Given the description of an element on the screen output the (x, y) to click on. 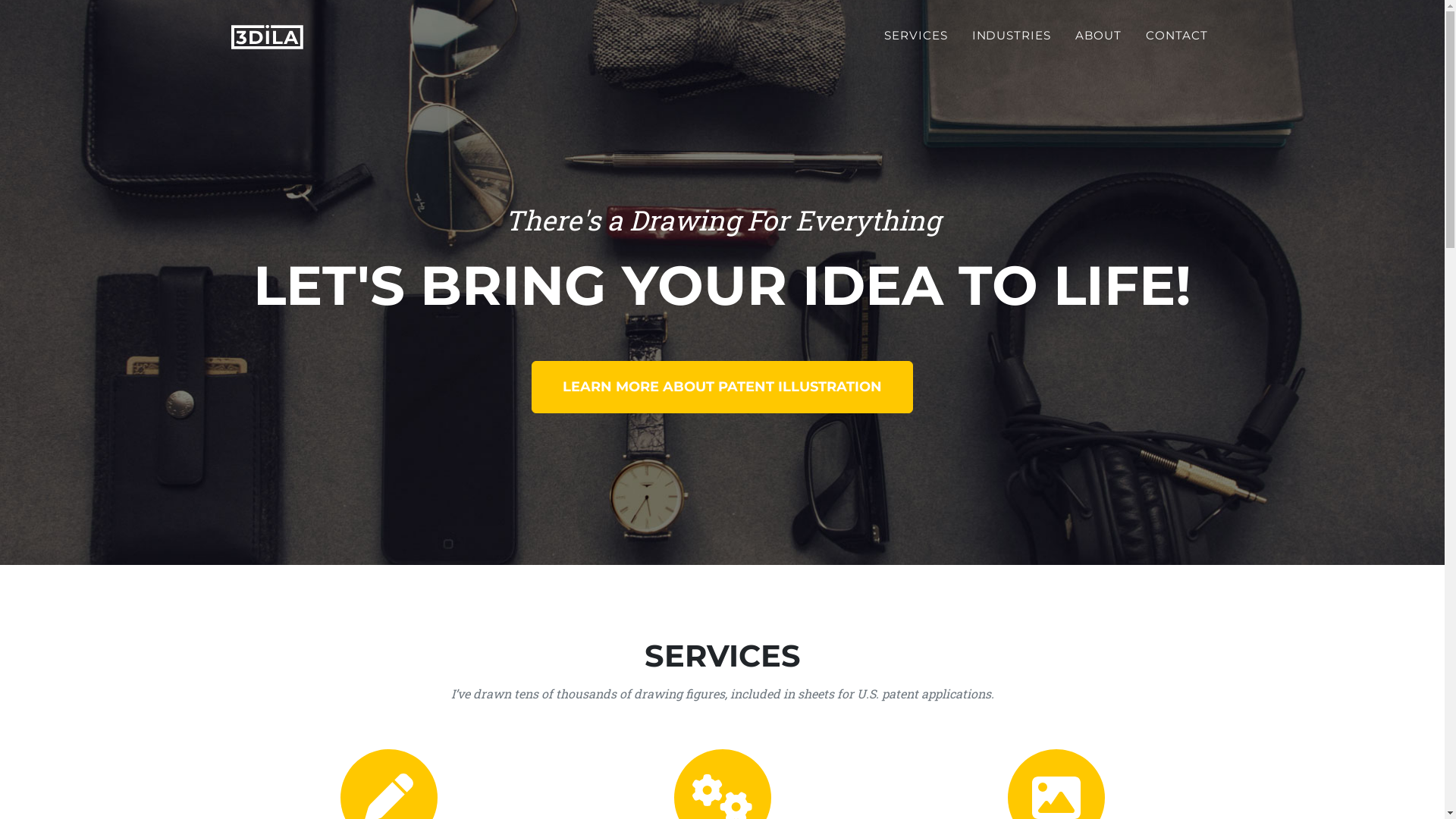
LEARN MORE ABOUT PATENT ILLUSTRATION Element type: text (722, 386)
SERVICES Element type: text (915, 35)
ABOUT Element type: text (1098, 35)
INDUSTRIES Element type: text (1011, 35)
CONTACT Element type: text (1176, 35)
